Given the description of an element on the screen output the (x, y) to click on. 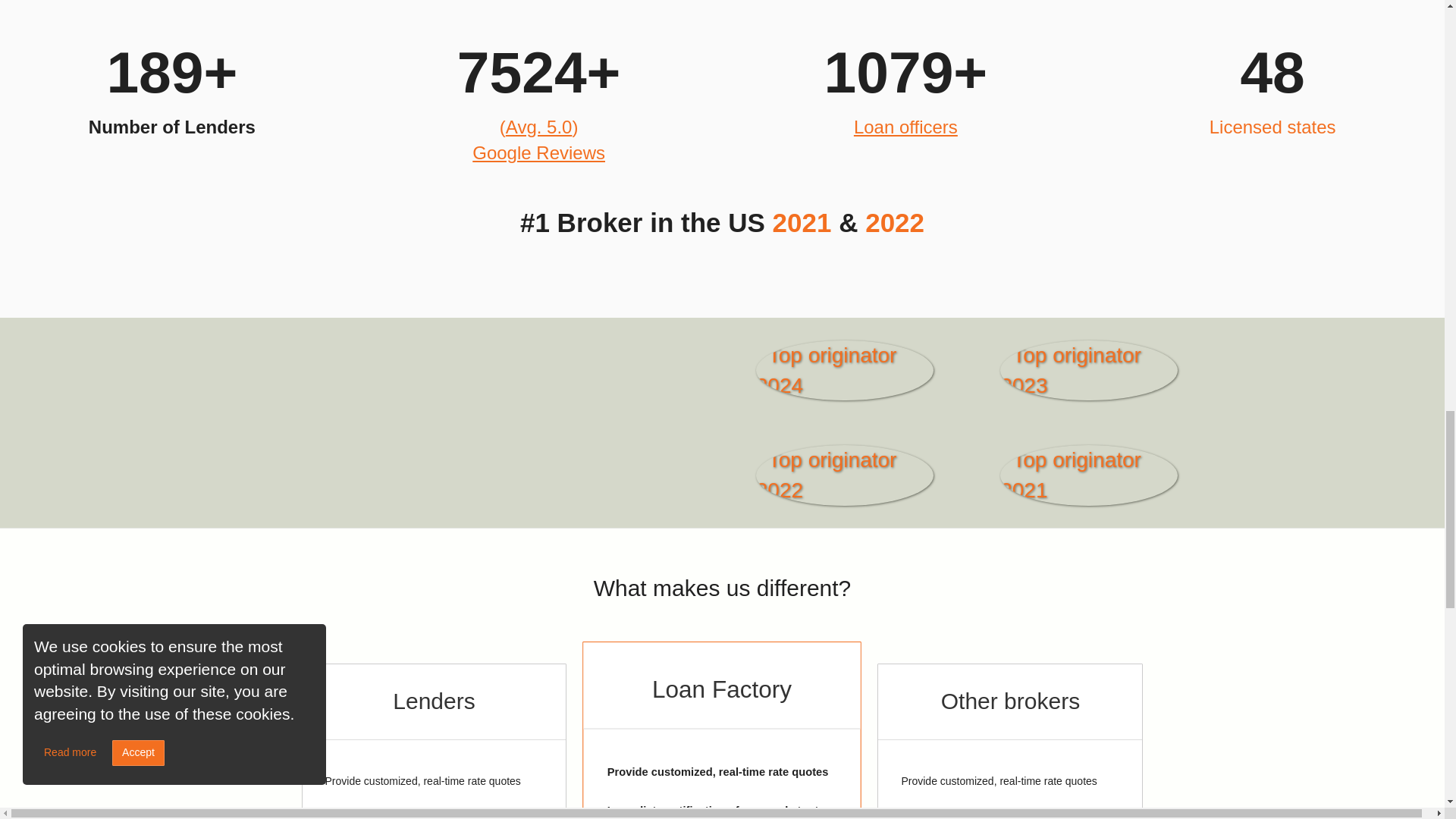
Licensed states (1272, 127)
2021 (802, 222)
2022 (894, 222)
Loan officers (905, 127)
